Given the description of an element on the screen output the (x, y) to click on. 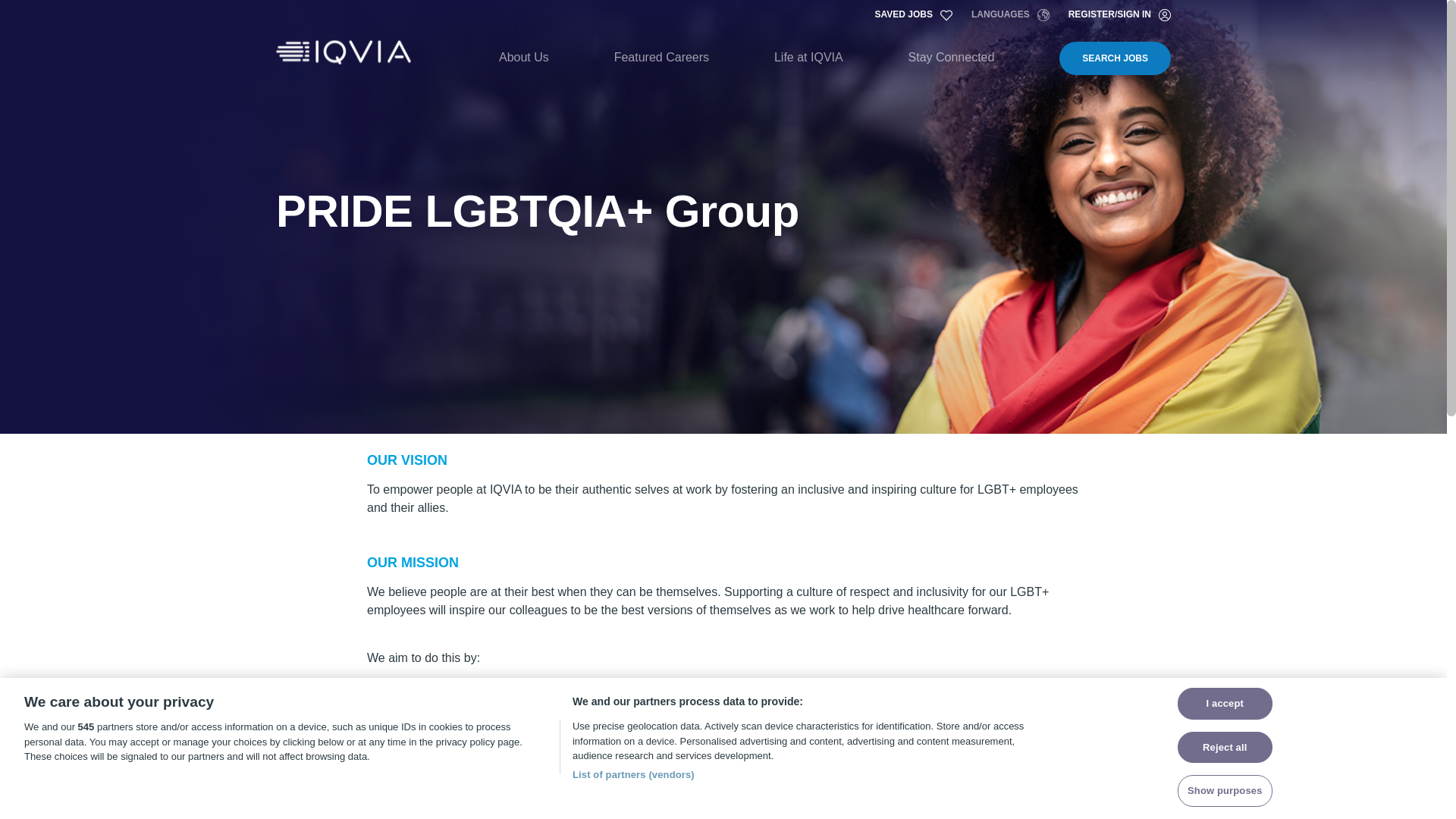
Life at IQVIA (808, 57)
Stay Connected (951, 57)
About Us (523, 57)
SAVED JOBS (913, 15)
LANGUAGES (1010, 15)
Featured Careers (661, 57)
